Given the description of an element on the screen output the (x, y) to click on. 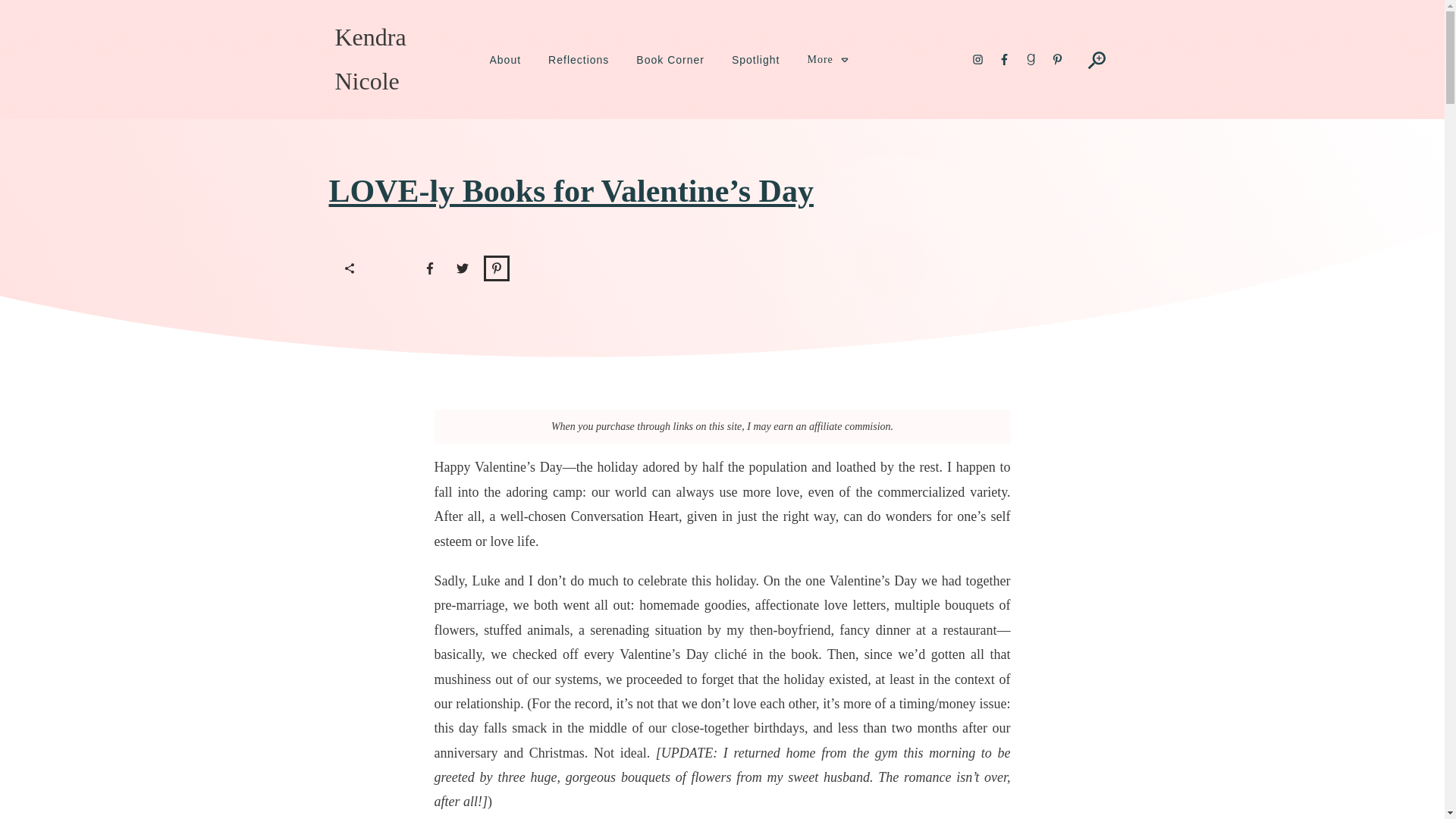
Reflections (578, 59)
More (827, 59)
About (505, 59)
Spotlight (755, 59)
Kendra Nicole (370, 59)
Book Corner (670, 59)
